Given the description of an element on the screen output the (x, y) to click on. 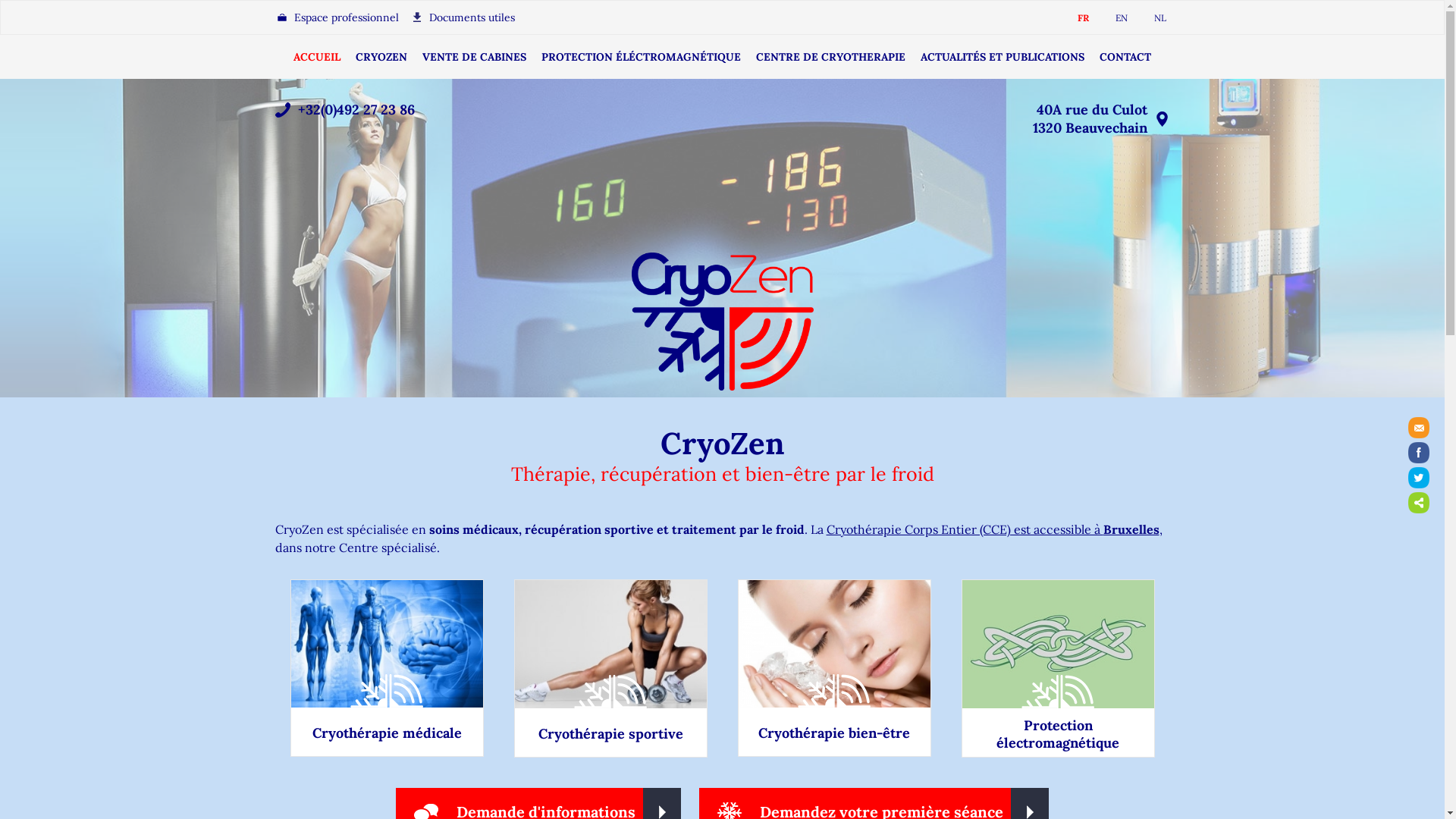
Documents utiles Element type: text (461, 17)
CONTACT Element type: text (1125, 56)
Partager ce contenu Element type: text (1418, 502)
FR Element type: text (1073, 18)
CENTRE DE CRYOTHERAPIE Element type: text (830, 56)
CRYOZEN Element type: text (381, 56)
ACCUEIL Element type: text (316, 56)
+32(0)492 27 23 86 Element type: text (355, 109)
VENTE DE CABINES Element type: text (474, 56)
Cryo Zen Element type: hover (721, 321)
40A rue du Culot
1320 Beauvechain Element type: text (1089, 118)
NL Element type: text (1149, 18)
EN Element type: text (1111, 18)
Espace professionnel Element type: text (336, 17)
